Given the description of an element on the screen output the (x, y) to click on. 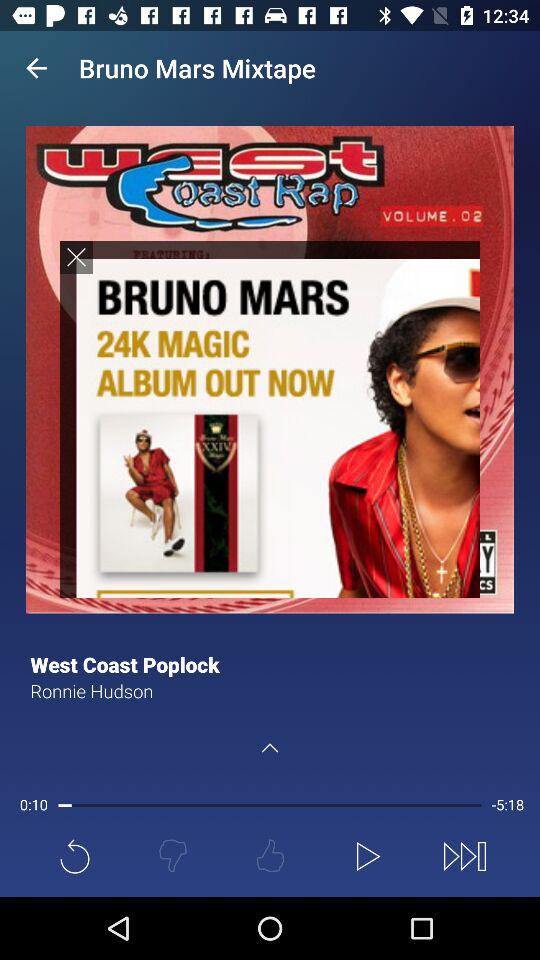
see album (270, 418)
